Given the description of an element on the screen output the (x, y) to click on. 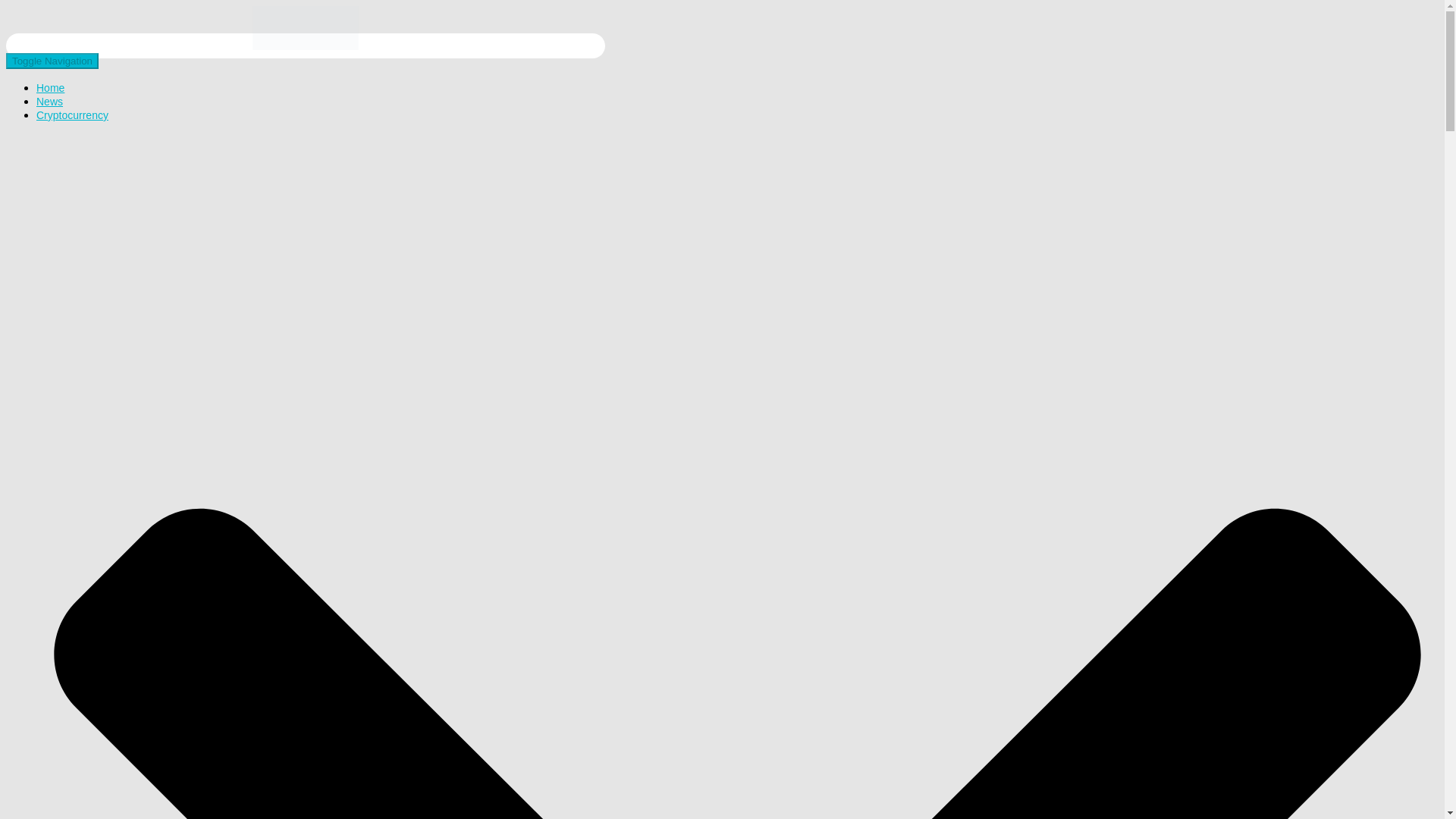
Home (50, 87)
Home (50, 87)
News (49, 101)
News (49, 101)
Cyber Flows (305, 45)
Toggle Navigation (52, 60)
